Given the description of an element on the screen output the (x, y) to click on. 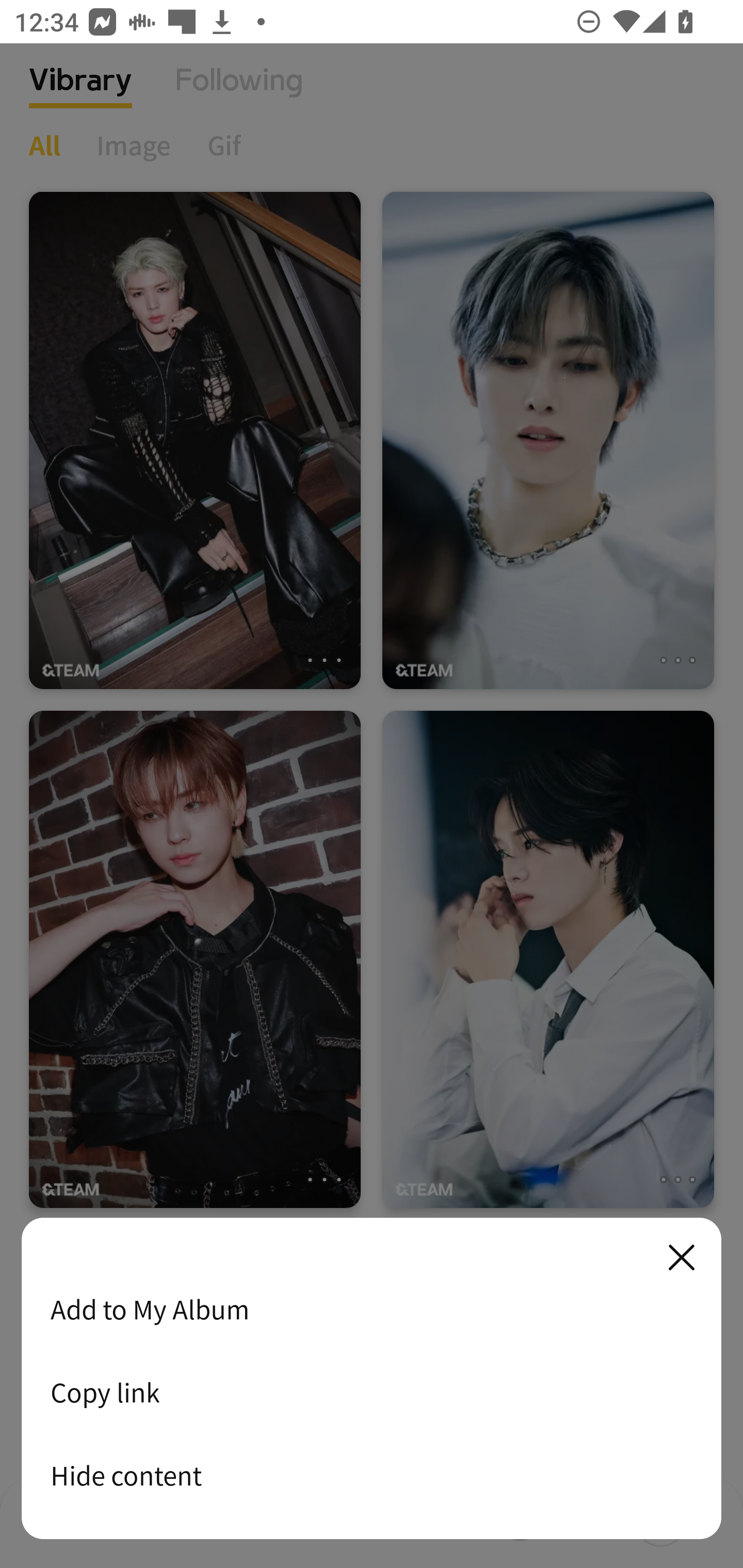
Add to My Album Copy link Hide content (371, 1378)
Add to My Album (371, 1308)
Copy link (371, 1391)
Hide content (371, 1474)
